Given the description of an element on the screen output the (x, y) to click on. 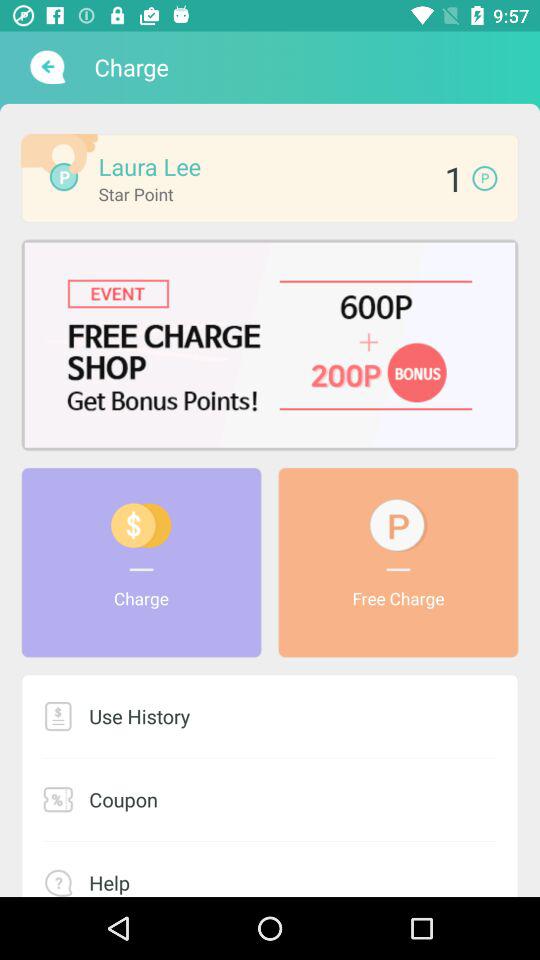
go to back (45, 67)
